Given the description of an element on the screen output the (x, y) to click on. 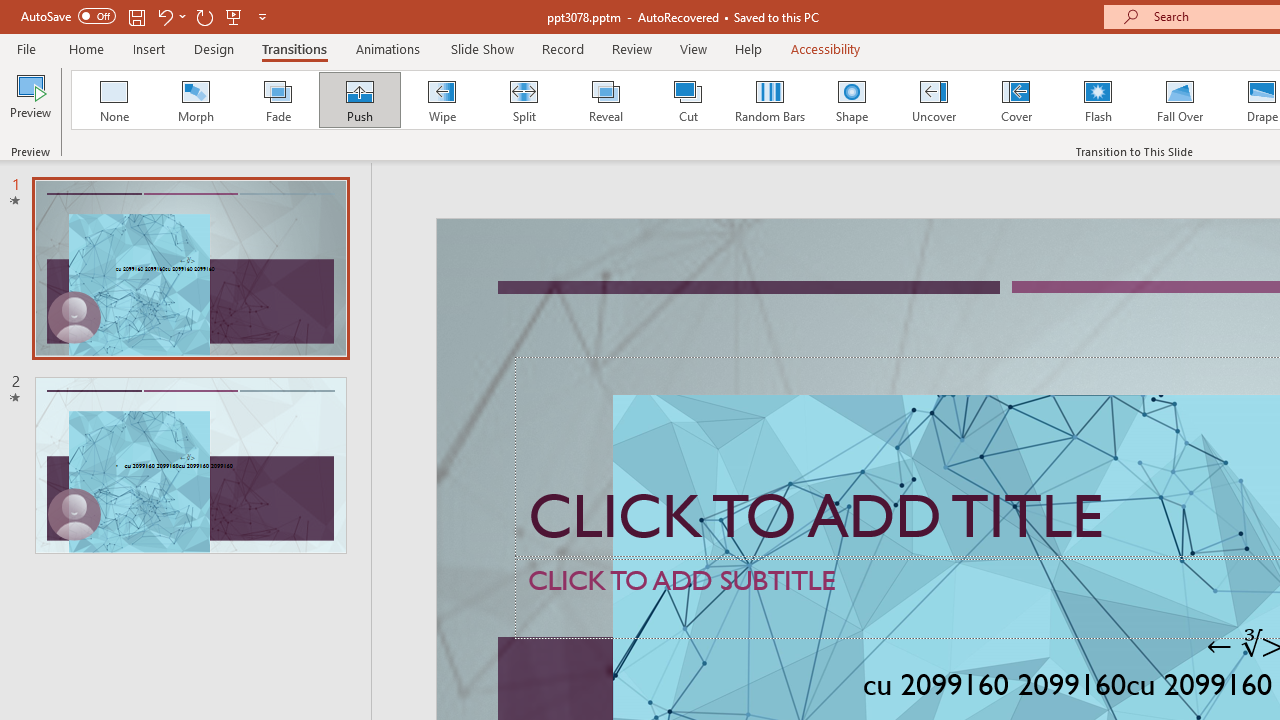
Random Bars (770, 100)
None (113, 100)
Flash (1098, 100)
Reveal (605, 100)
Fall Over (1180, 100)
